Given the description of an element on the screen output the (x, y) to click on. 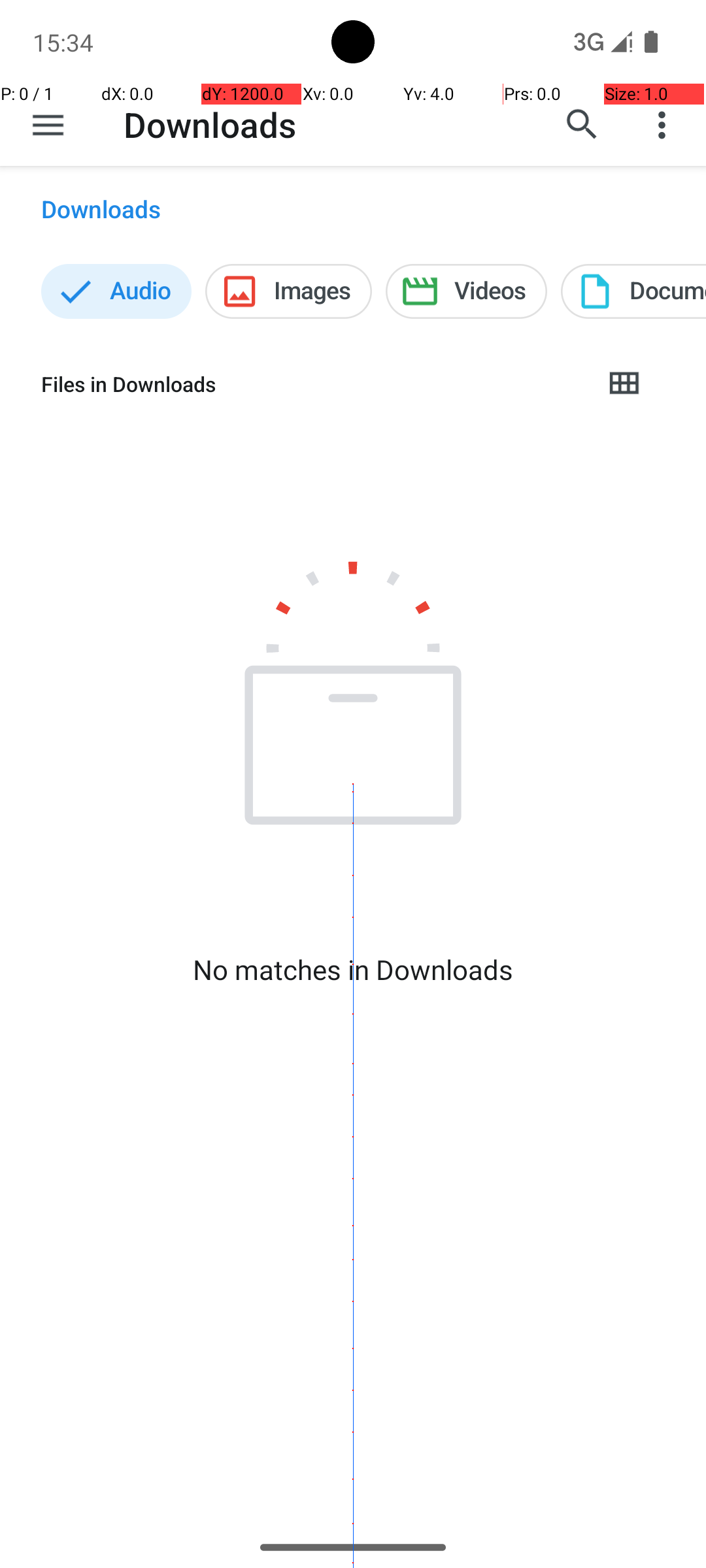
Grid view Element type: android.widget.TextView (622, 384)
